Given the description of an element on the screen output the (x, y) to click on. 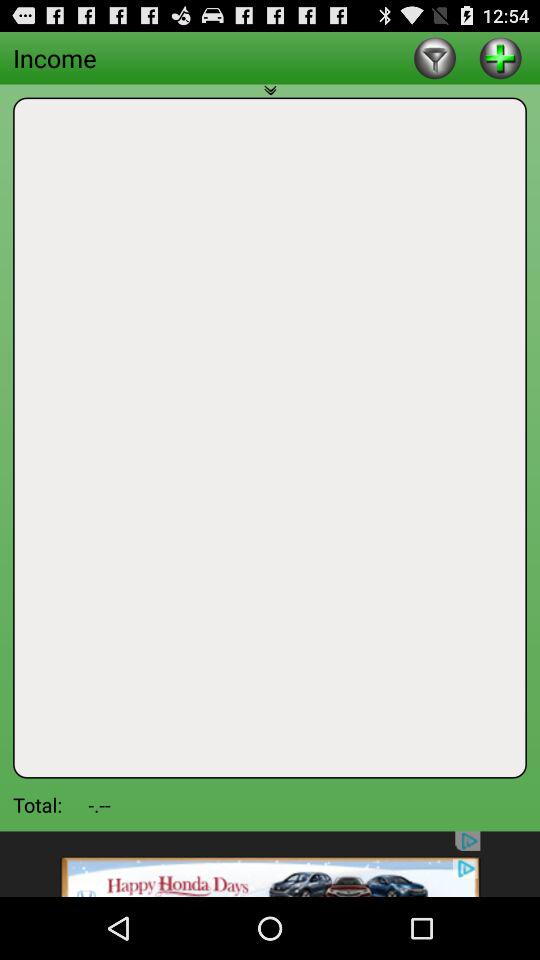
expand window (269, 95)
